Given the description of an element on the screen output the (x, y) to click on. 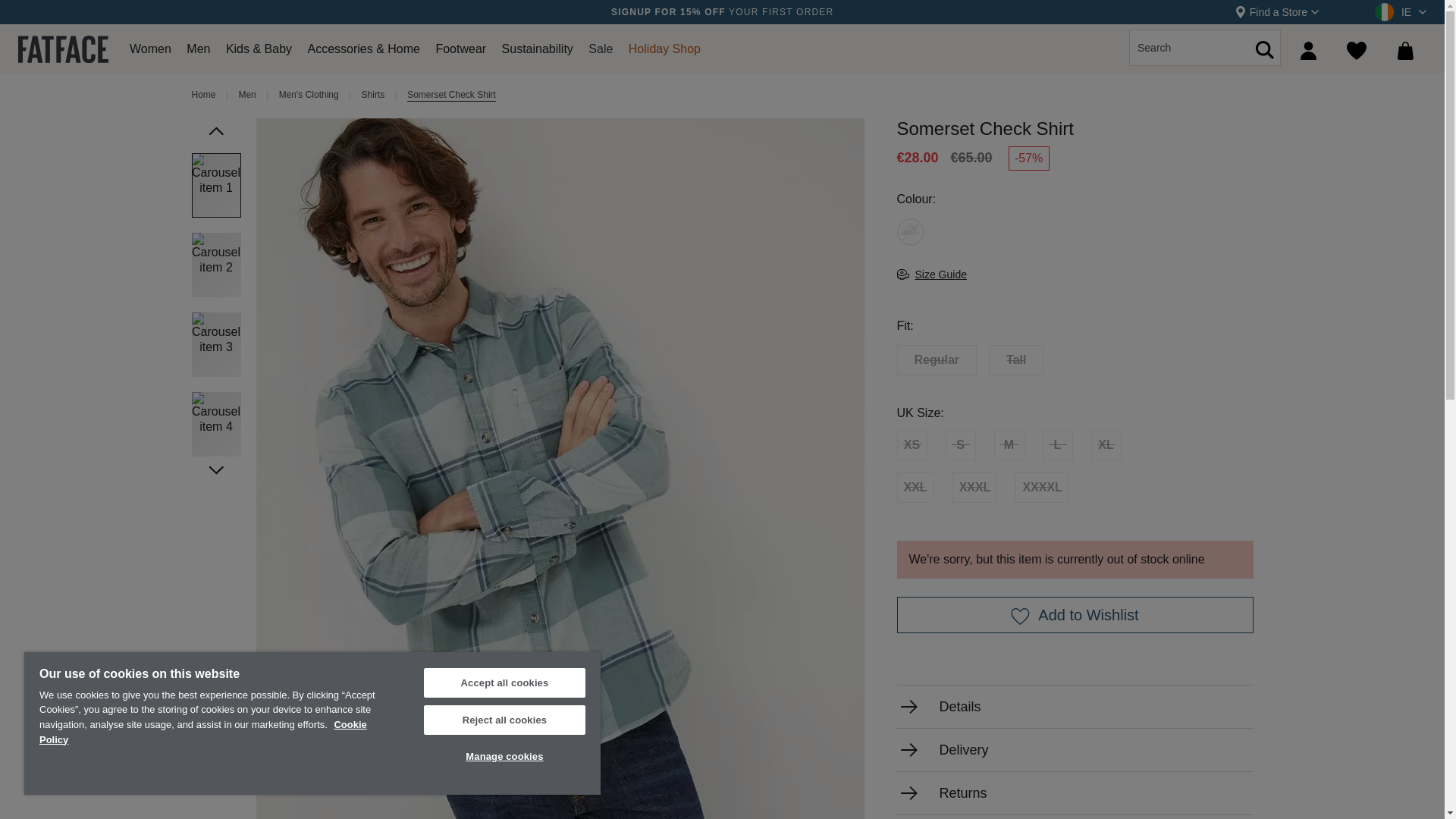
Go to Men's Clothing (309, 95)
Search (1264, 84)
Women (150, 53)
FatFace (62, 47)
Go to Shirts (373, 95)
Find a Store (1277, 12)
Go to Home (202, 95)
Go to Men (247, 95)
